Given the description of an element on the screen output the (x, y) to click on. 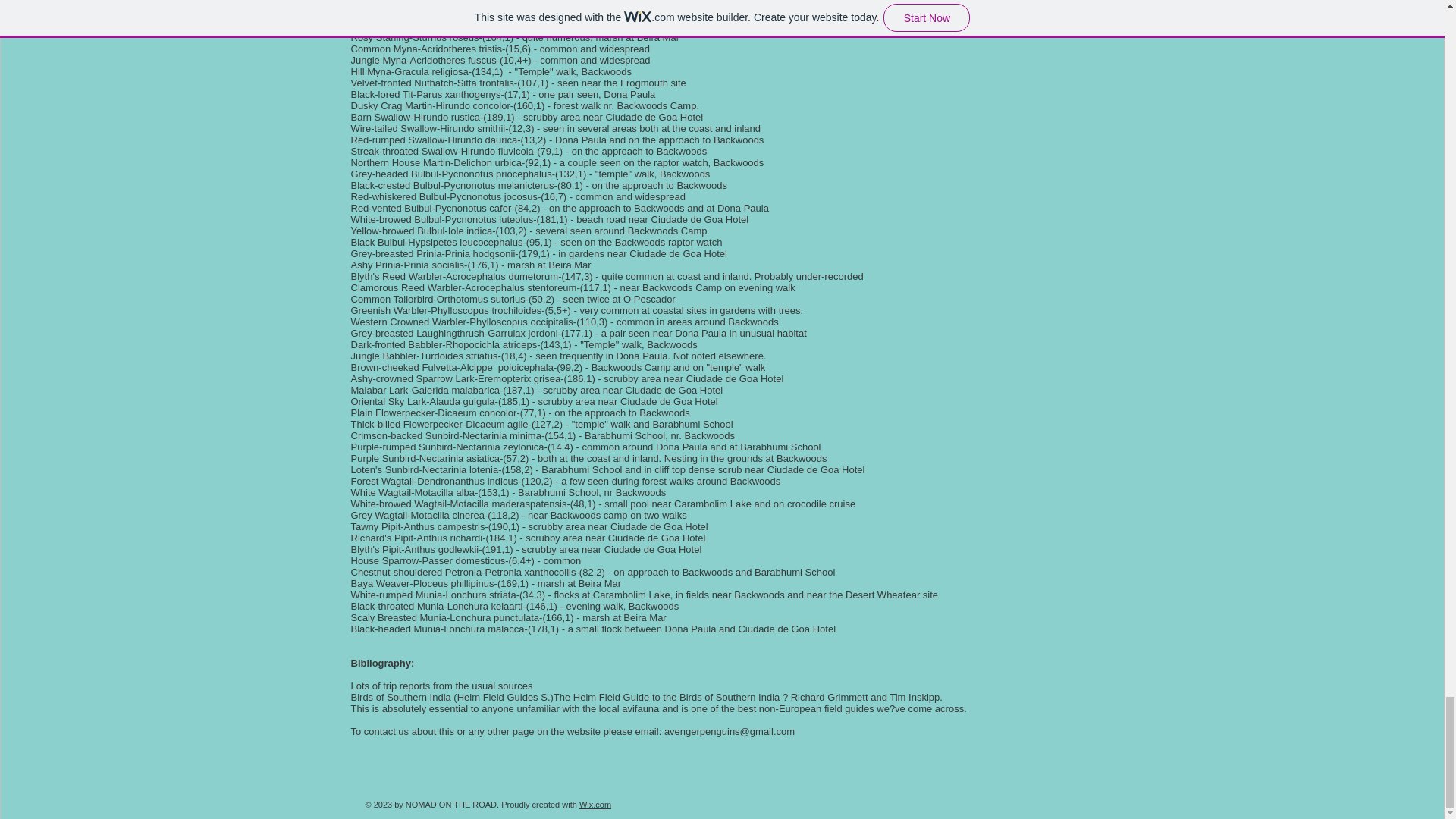
Wix.com (595, 804)
